Given the description of an element on the screen output the (x, y) to click on. 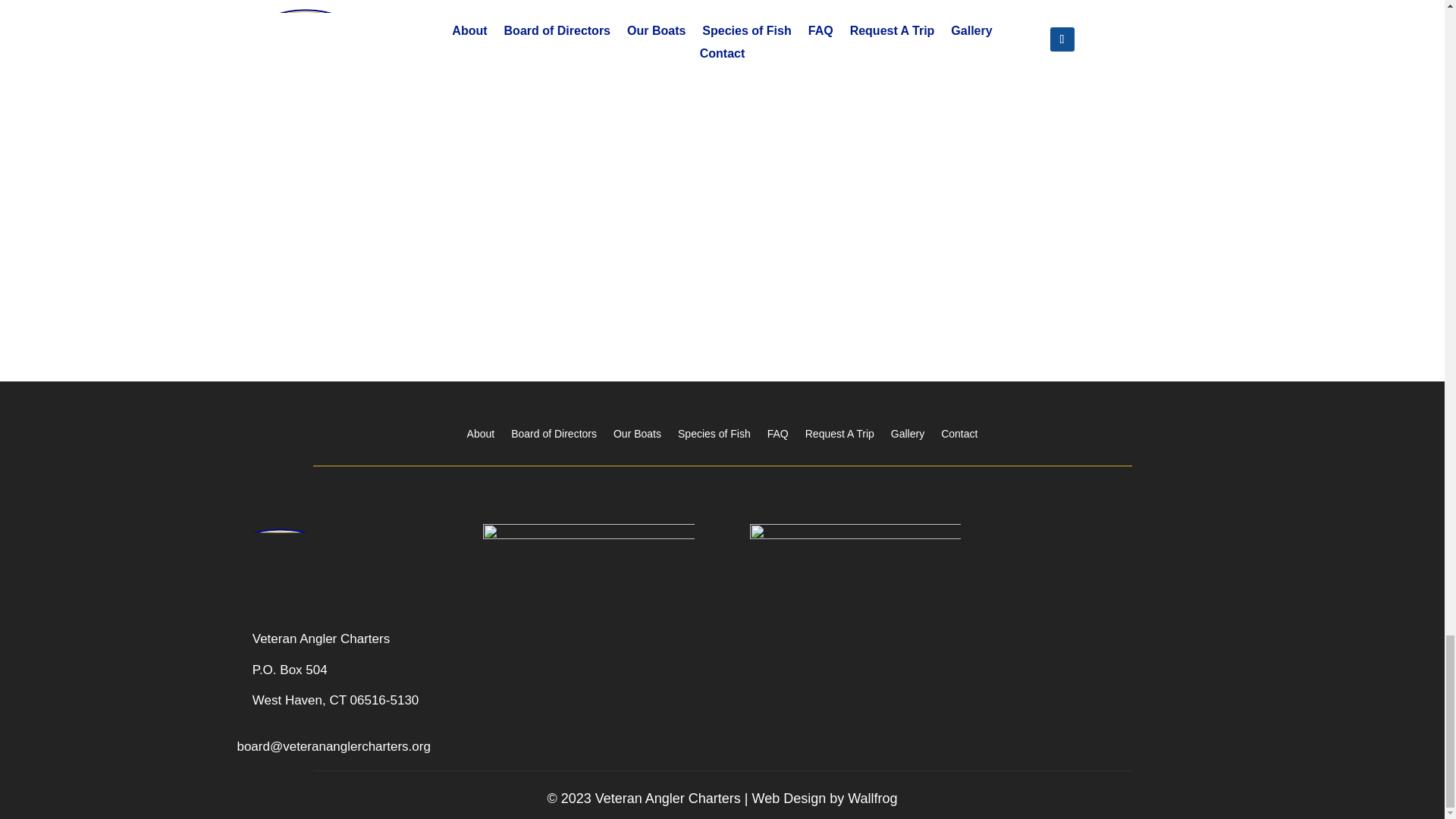
veteran-anglers-charters-logo (279, 562)
New England region colored political map (588, 632)
Contact (958, 430)
Species of Fish (714, 430)
Request A Trip (840, 430)
facebook (854, 563)
FAQ (778, 430)
Gallery (907, 430)
Our Boats (636, 430)
About (481, 430)
